Given the description of an element on the screen output the (x, y) to click on. 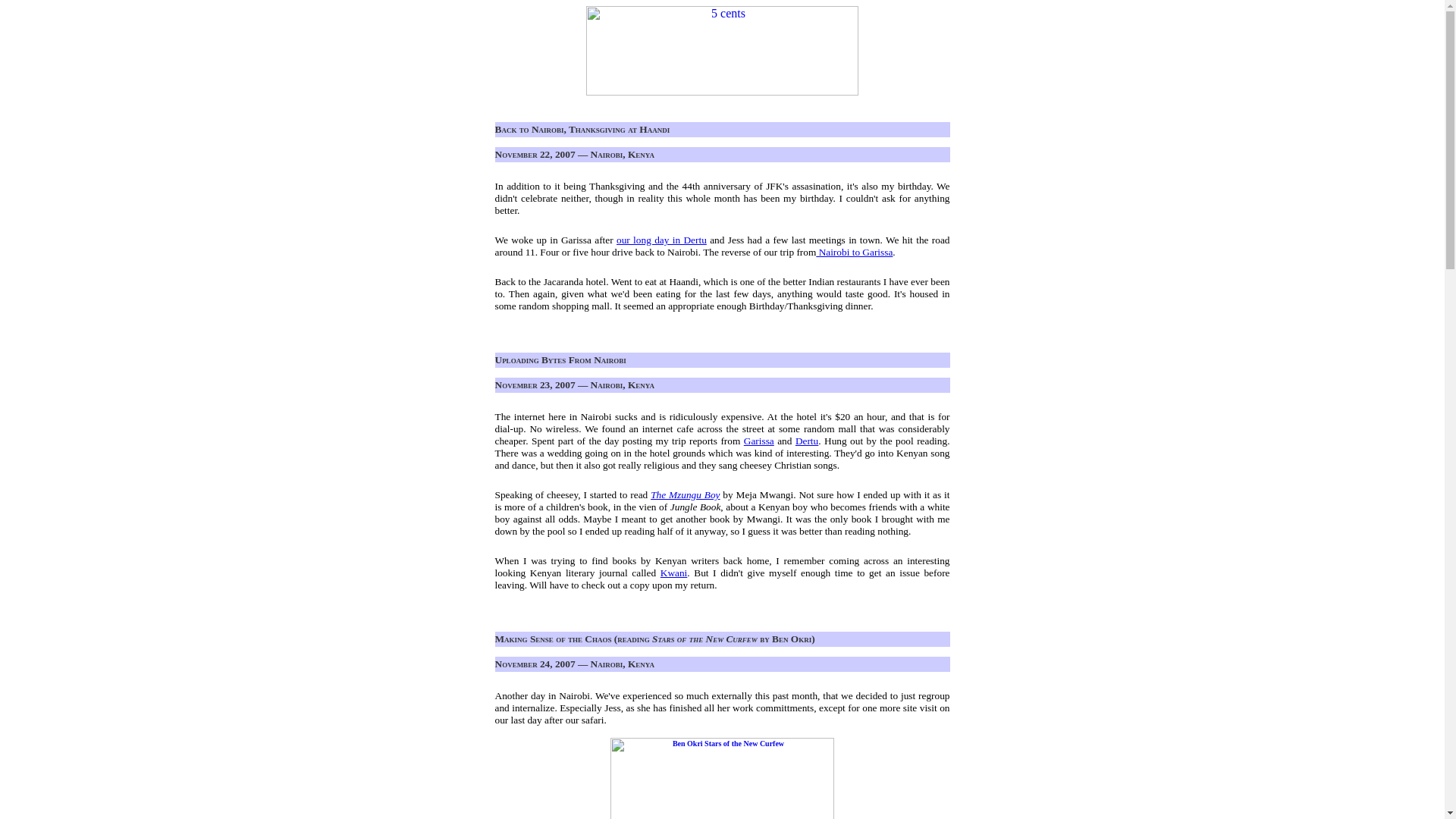
Kwani (674, 572)
Garissa (759, 440)
Dertu (806, 440)
our long day in Dertu (660, 239)
Nairobi to Garissa (853, 251)
The Mzungu Boy (684, 494)
